Given the description of an element on the screen output the (x, y) to click on. 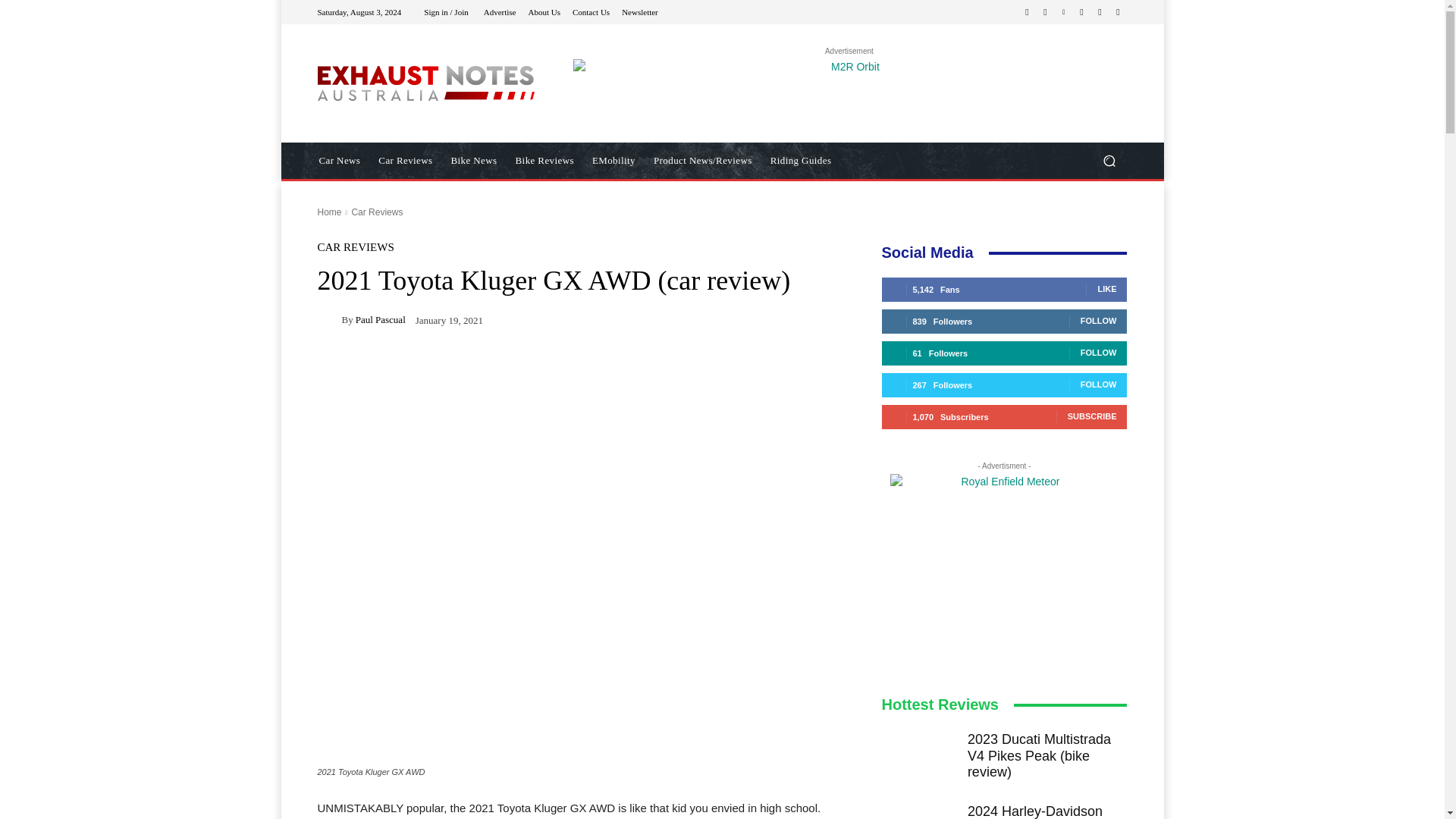
Home (328, 212)
Car Reviews (405, 160)
Car Reviews (376, 212)
Bike News (474, 160)
CAR REVIEWS (355, 247)
Bike Reviews (544, 160)
TikTok (1080, 12)
Newsletter (639, 11)
Instagram (1044, 12)
Youtube (1117, 12)
